Given the description of an element on the screen output the (x, y) to click on. 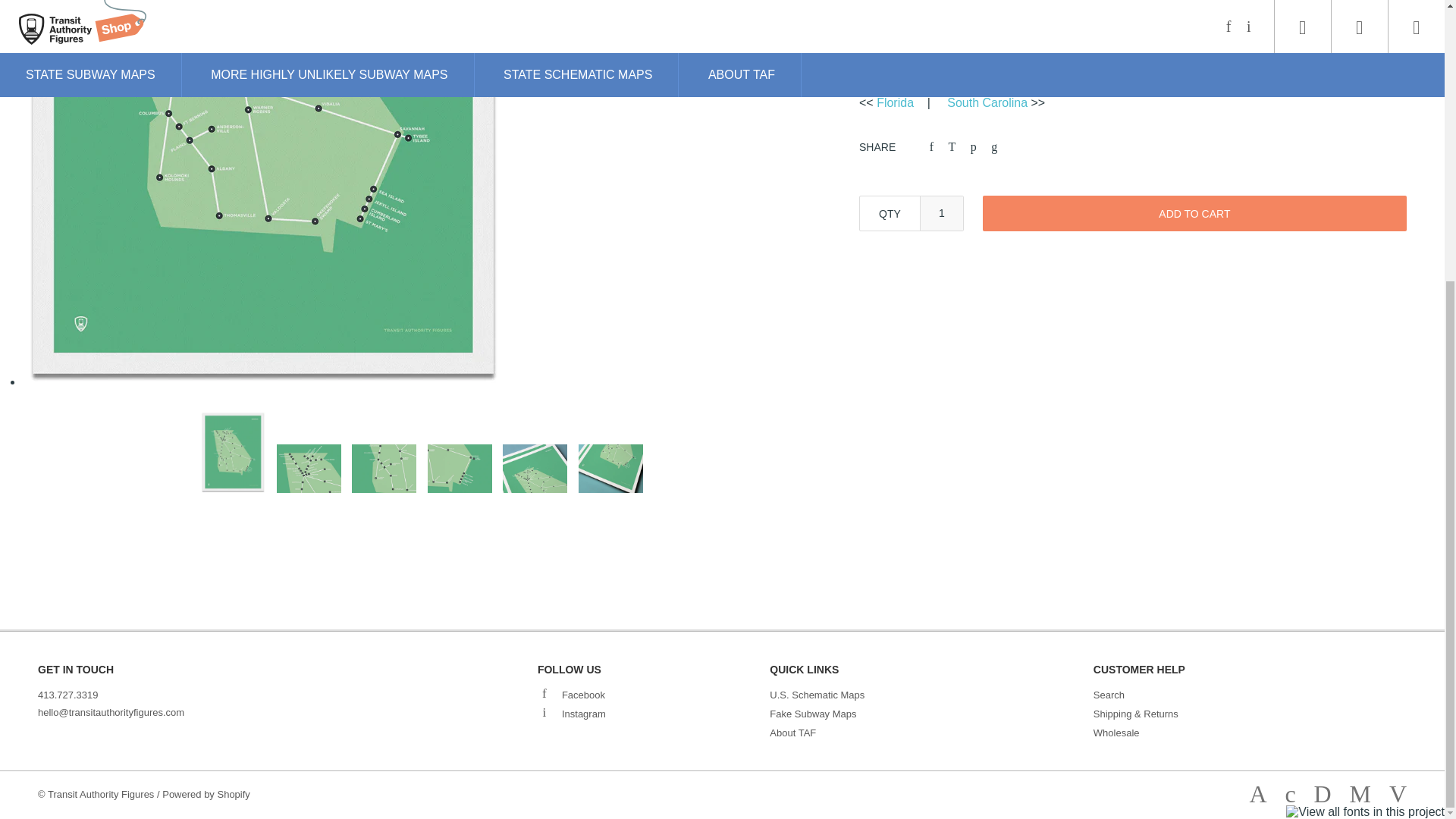
U.S. Schematic Maps (817, 695)
Instagram (544, 711)
Facebook (653, 695)
1 (941, 213)
Instagram (653, 713)
About TAF (792, 732)
ADD TO CART (1194, 212)
Facebook (544, 693)
Fake Subway Maps (813, 713)
South Carolina (987, 102)
Florida (895, 102)
